Given the description of an element on the screen output the (x, y) to click on. 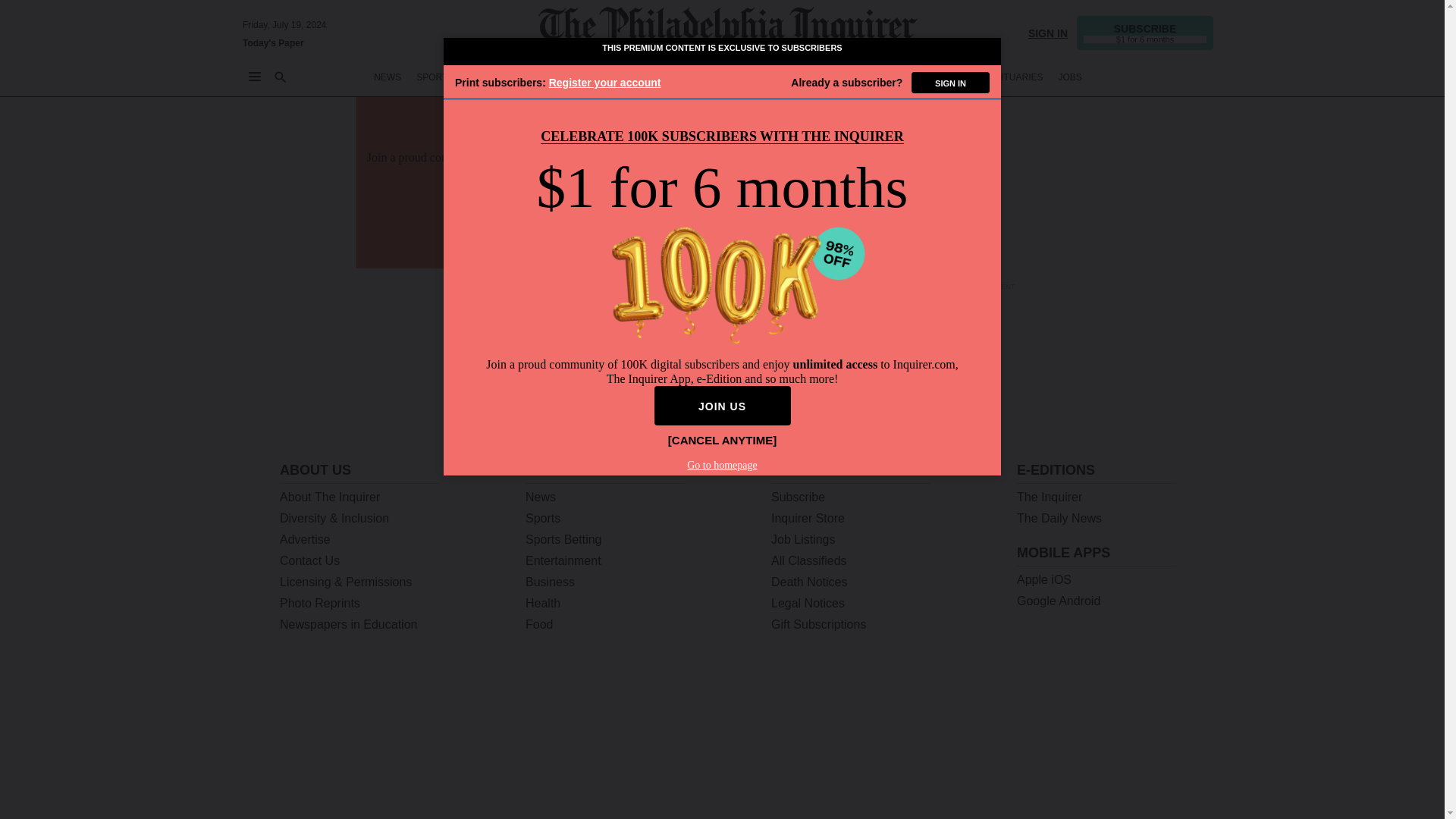
Facebook (1076, 790)
Instagram (1115, 790)
Twitter (1036, 790)
